Given the description of an element on the screen output the (x, y) to click on. 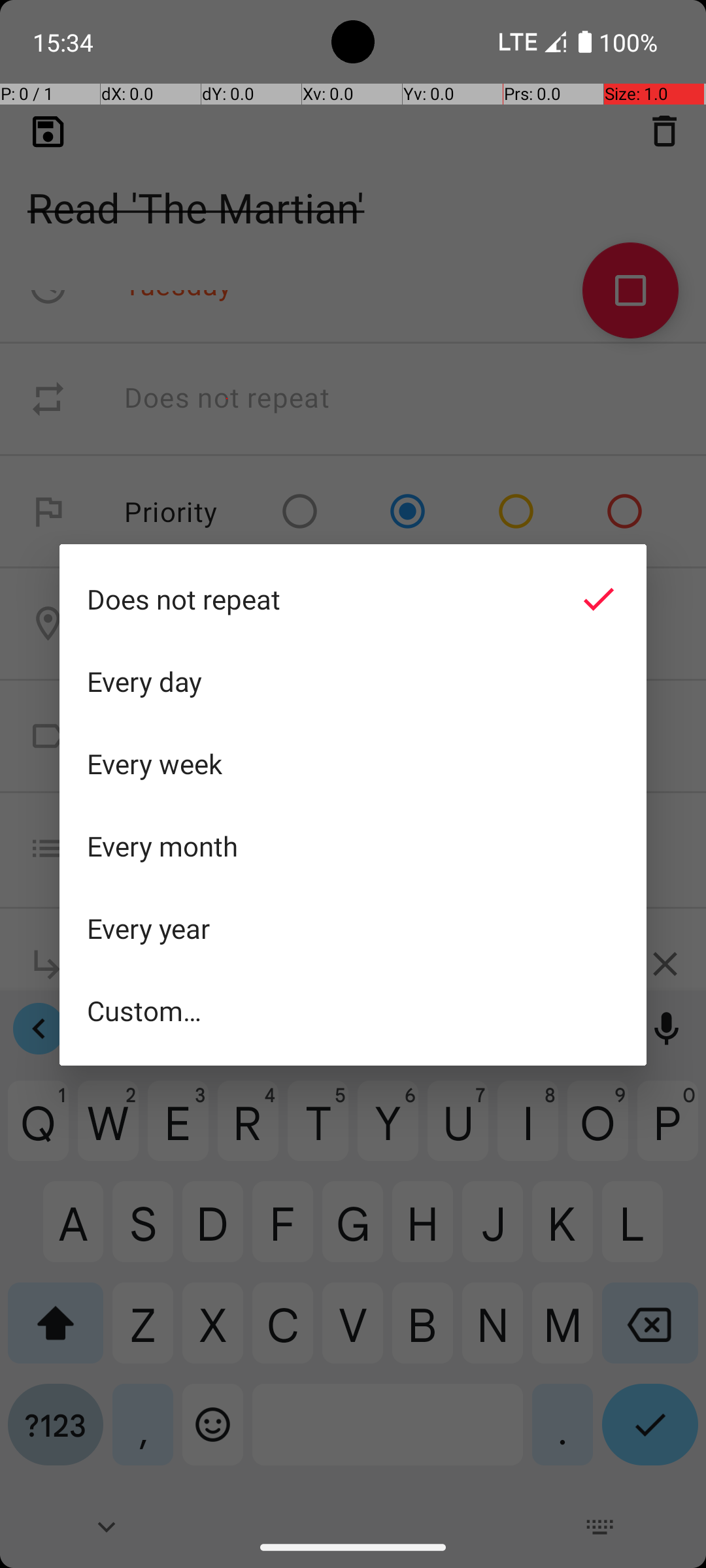
Every day Element type: android.widget.CheckedTextView (352, 681)
Every week Element type: android.widget.CheckedTextView (352, 763)
Every month Element type: android.widget.CheckedTextView (352, 845)
Every year Element type: android.widget.CheckedTextView (352, 928)
Custom… Element type: android.widget.CheckedTextView (352, 1010)
